Given the description of an element on the screen output the (x, y) to click on. 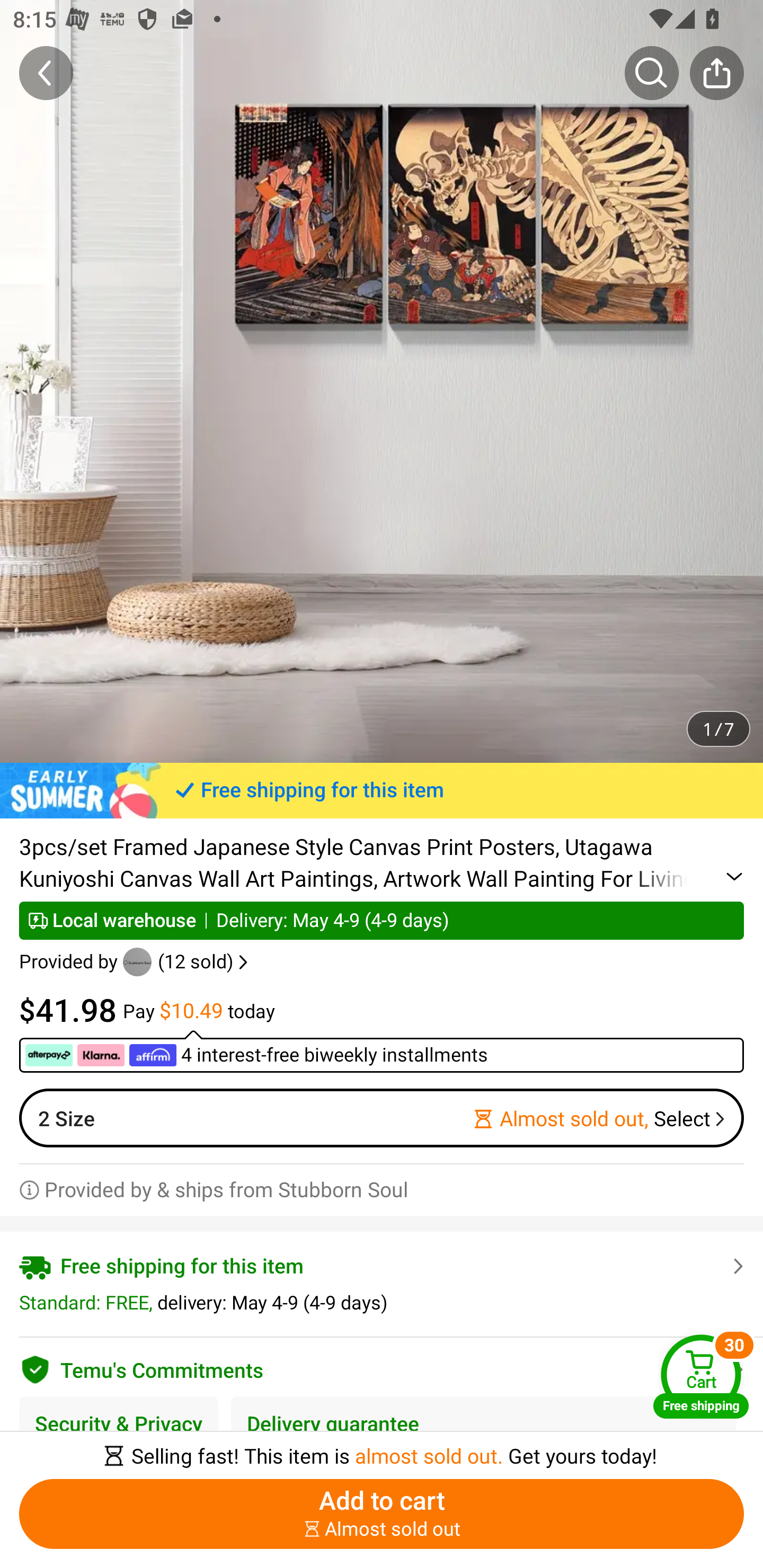
Back (46, 72)
Share (716, 72)
Free shipping for this item (381, 790)
Local warehouse Delivery: May 4-9 (4-9 days) (381, 920)
By null(12 sold) Provided by  (12 sold) (135, 961)
Provided by  (70, 961)
￼ ￼ ￼ 4 interest-free biweekly installments (381, 1051)
2 Size   Almost sold out, Select (381, 1117)
Cart Free shipping Cart (701, 1375)
Temu's Commitments (381, 1367)
Add to cart ￼￼Almost sold out (381, 1513)
